Given the description of an element on the screen output the (x, y) to click on. 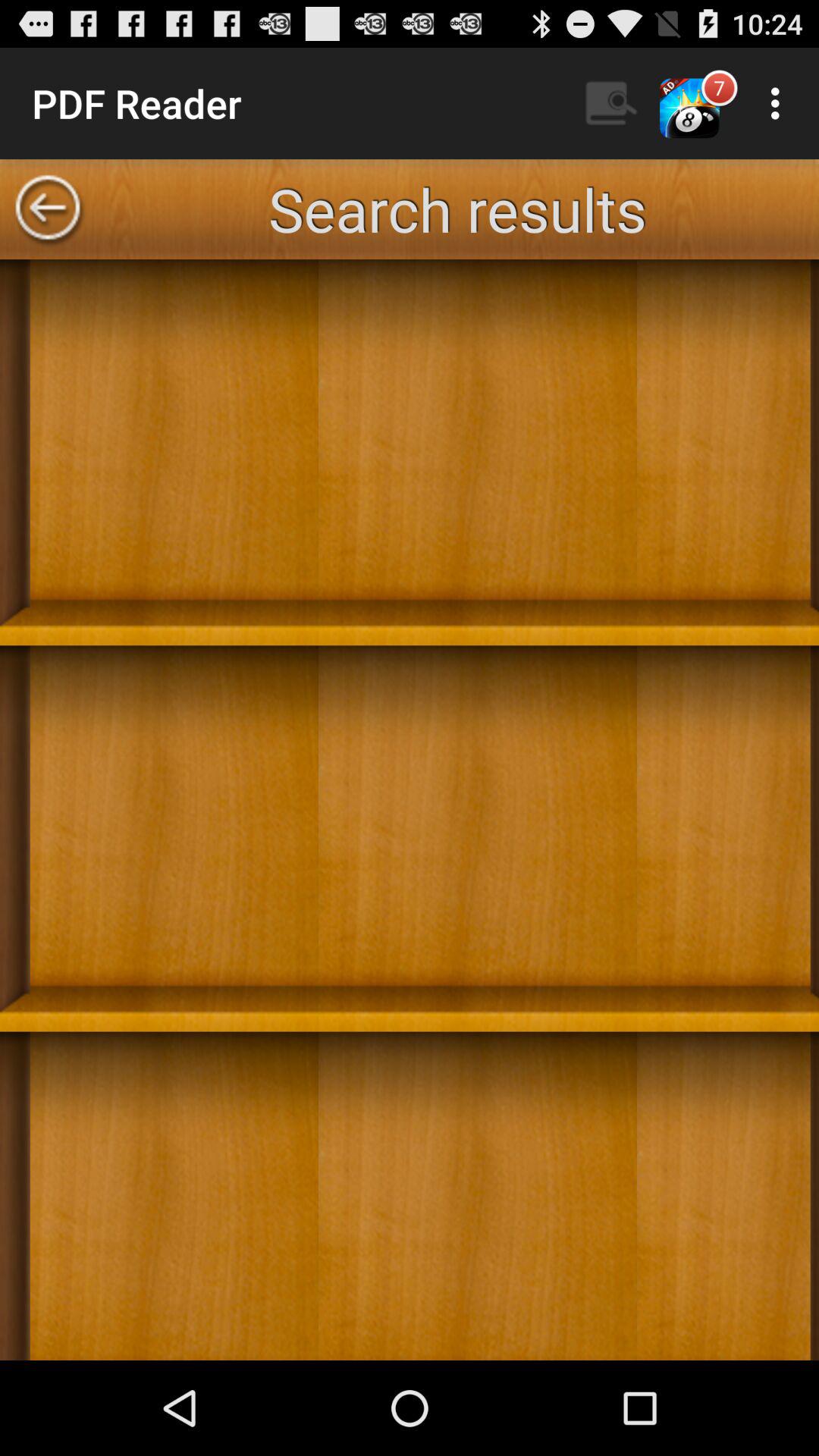
turn on item above search results item (611, 103)
